Given the description of an element on the screen output the (x, y) to click on. 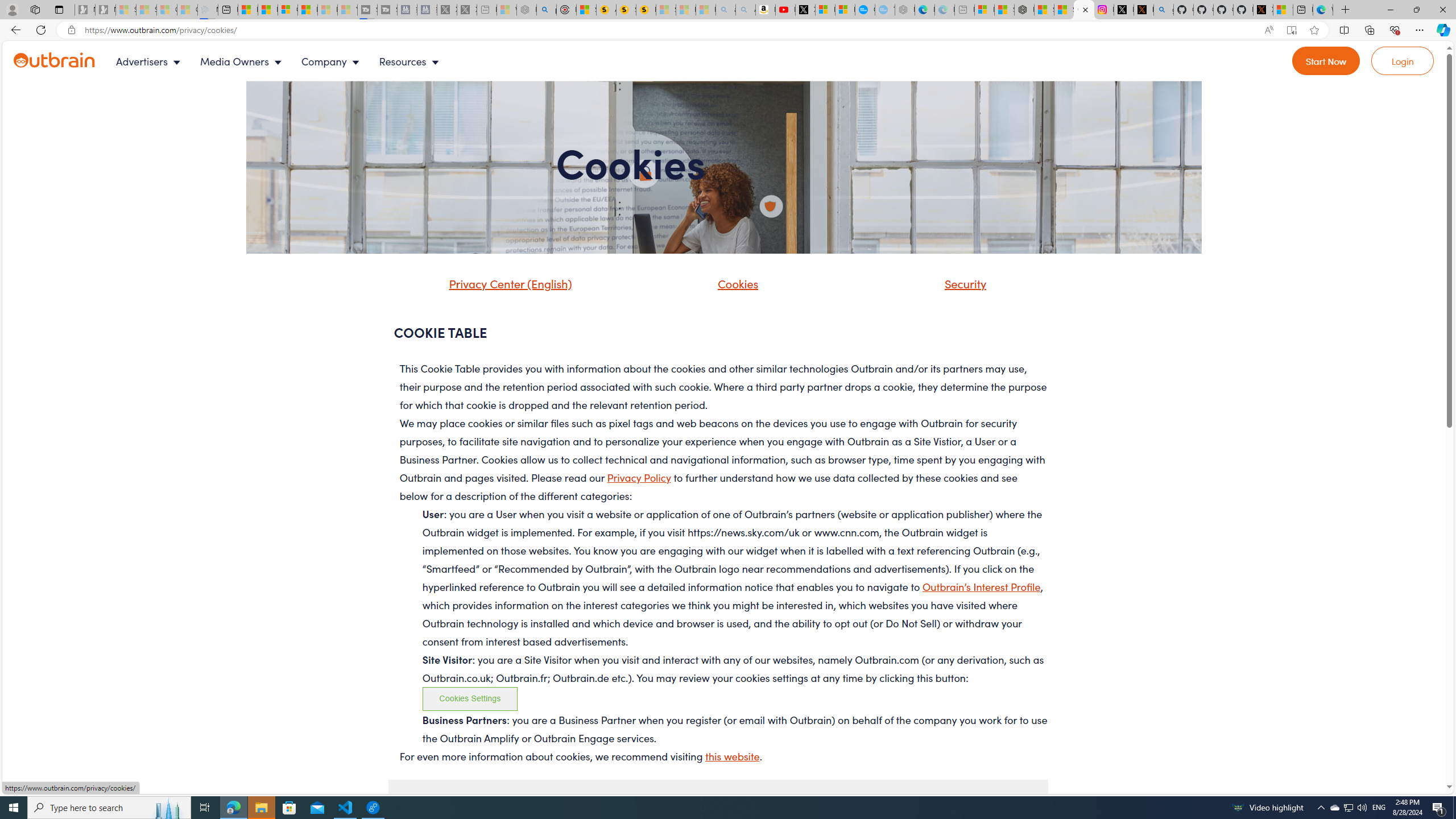
github - Search (1162, 9)
Cookies (723, 287)
Go to login (1402, 60)
Media Owners (242, 61)
Cookies (734, 282)
